Given the description of an element on the screen output the (x, y) to click on. 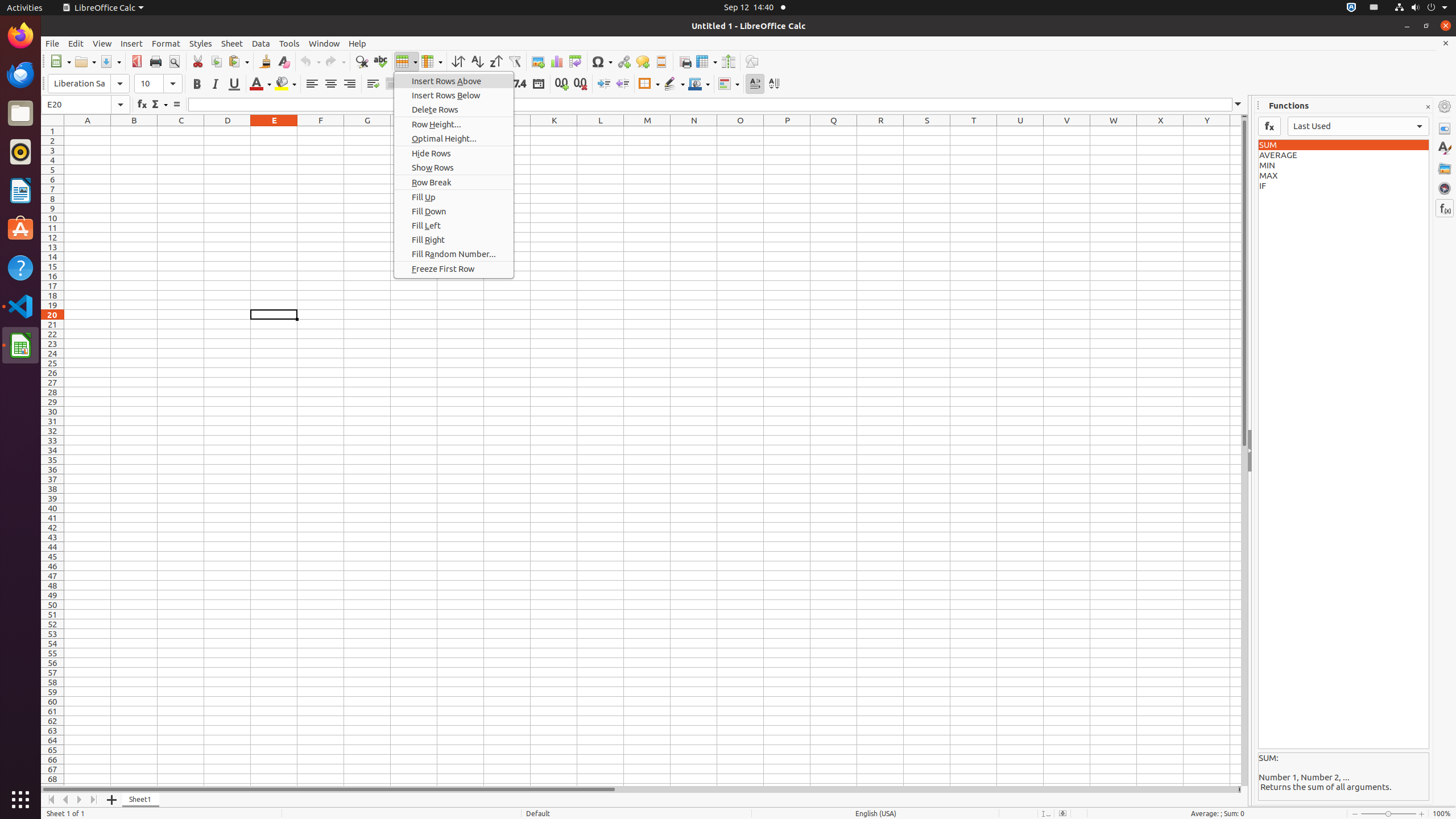
:1.72/StatusNotifierItem Element type: menu (1350, 7)
Firefox Web Browser Element type: push-button (20, 35)
Thunderbird Mail Element type: push-button (20, 74)
LibreOffice Calc Element type: menu (102, 7)
